Given the description of an element on the screen output the (x, y) to click on. 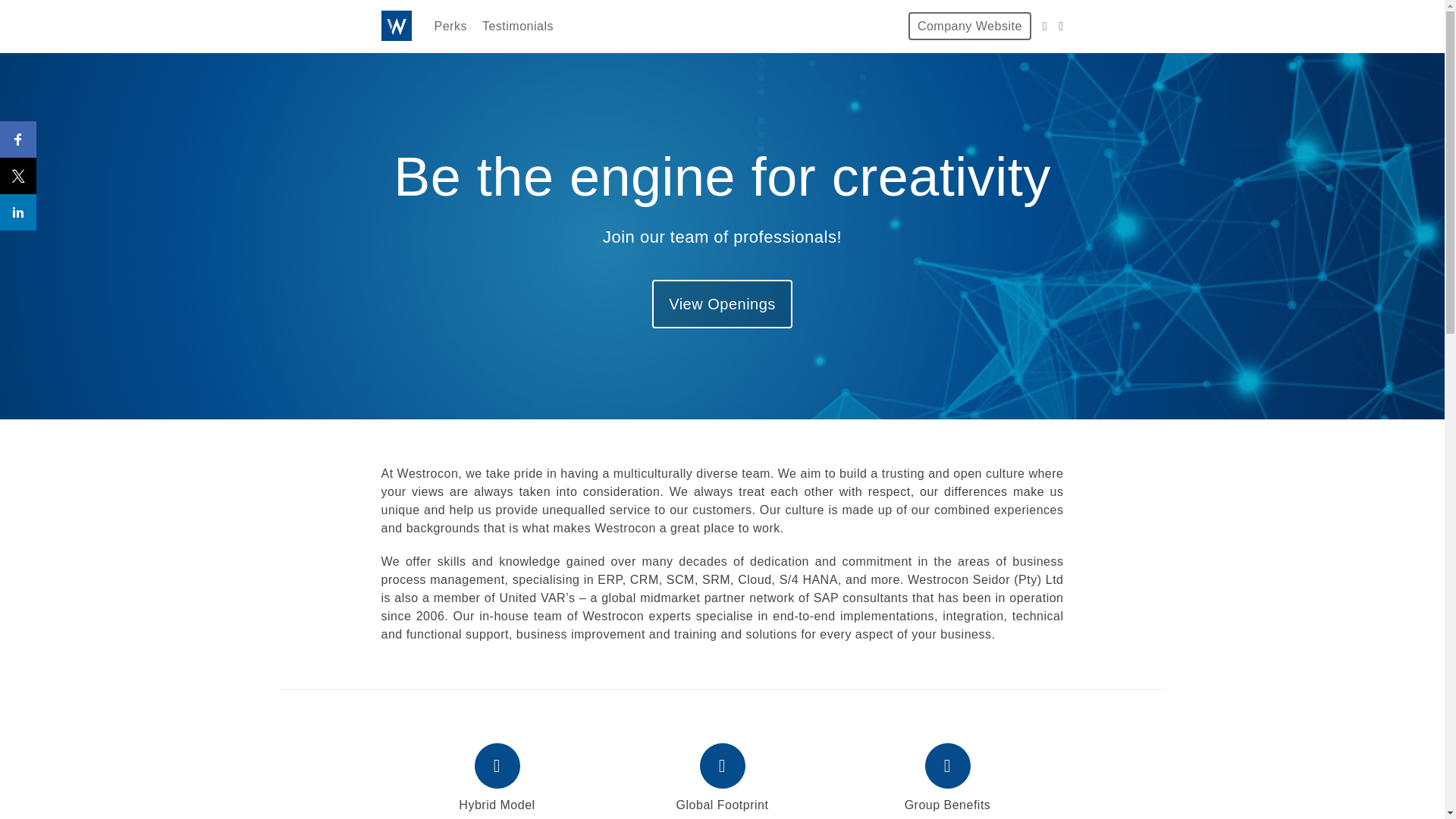
Perks (449, 25)
Company Website (969, 26)
View Openings (722, 304)
Testimonials (517, 25)
